Given the description of an element on the screen output the (x, y) to click on. 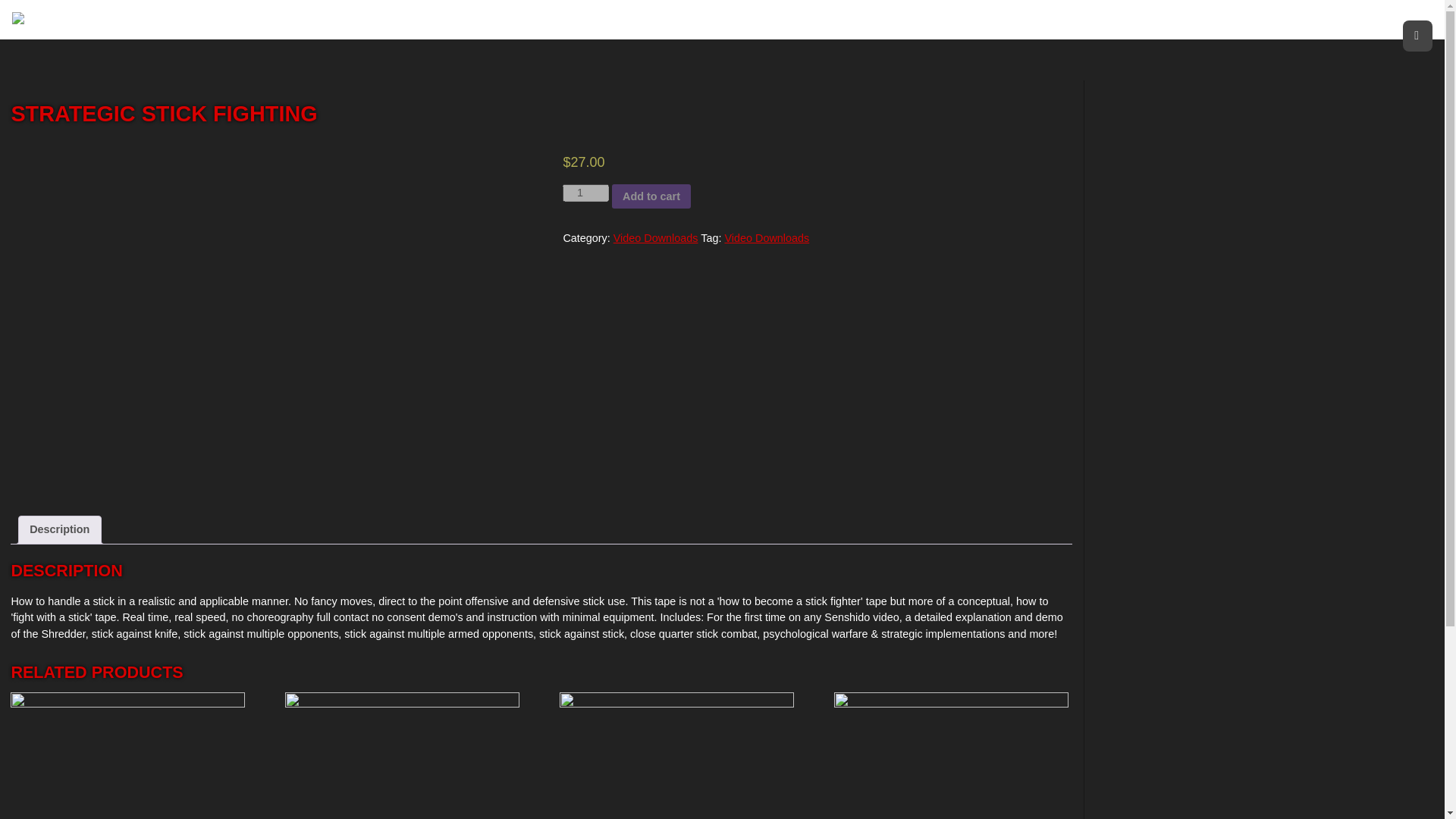
Description (58, 529)
Video Downloads (655, 237)
Video Downloads (766, 237)
1 (585, 192)
Add to cart (651, 196)
